Given the description of an element on the screen output the (x, y) to click on. 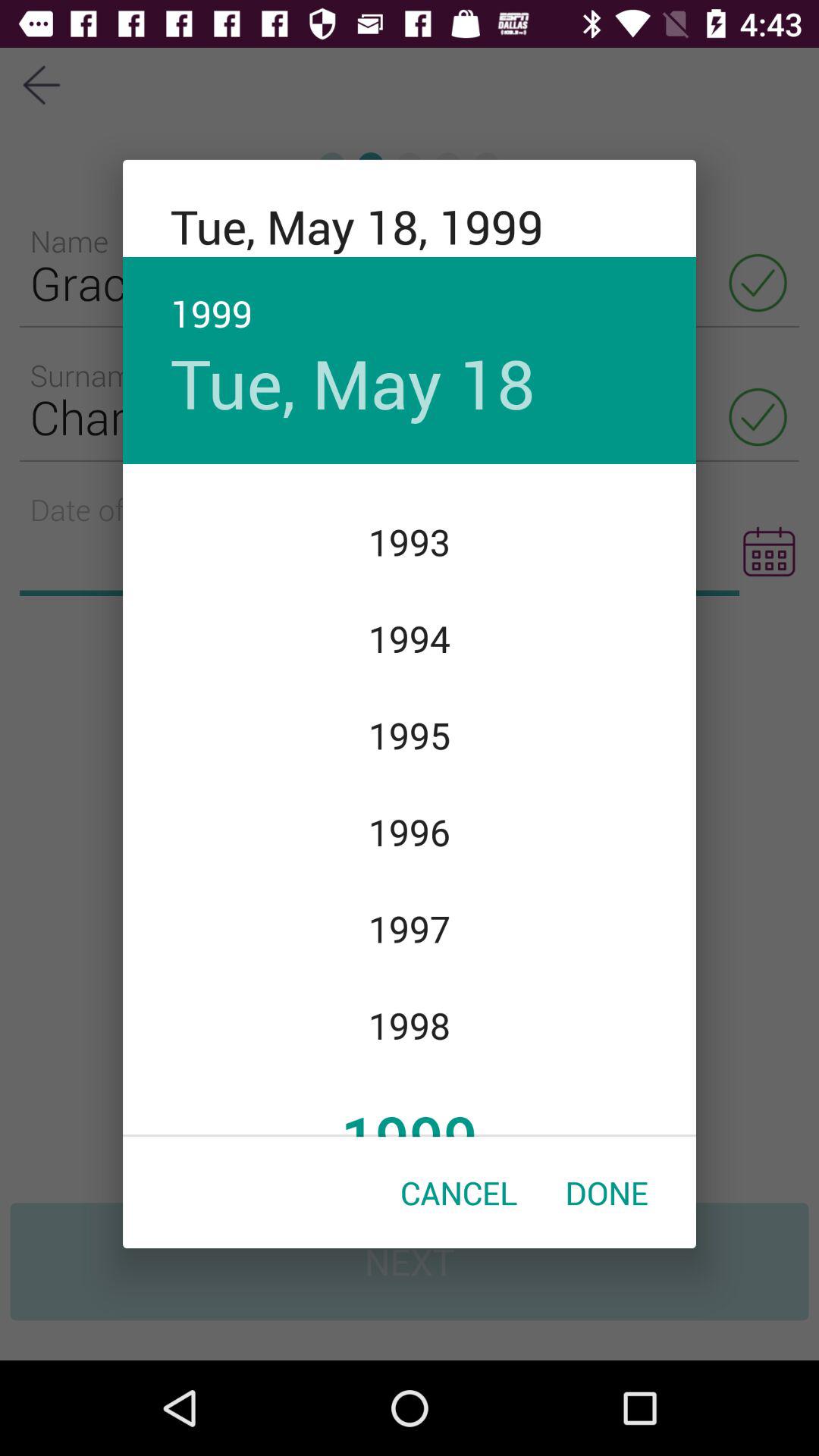
turn off the item to the left of done icon (458, 1192)
